Given the description of an element on the screen output the (x, y) to click on. 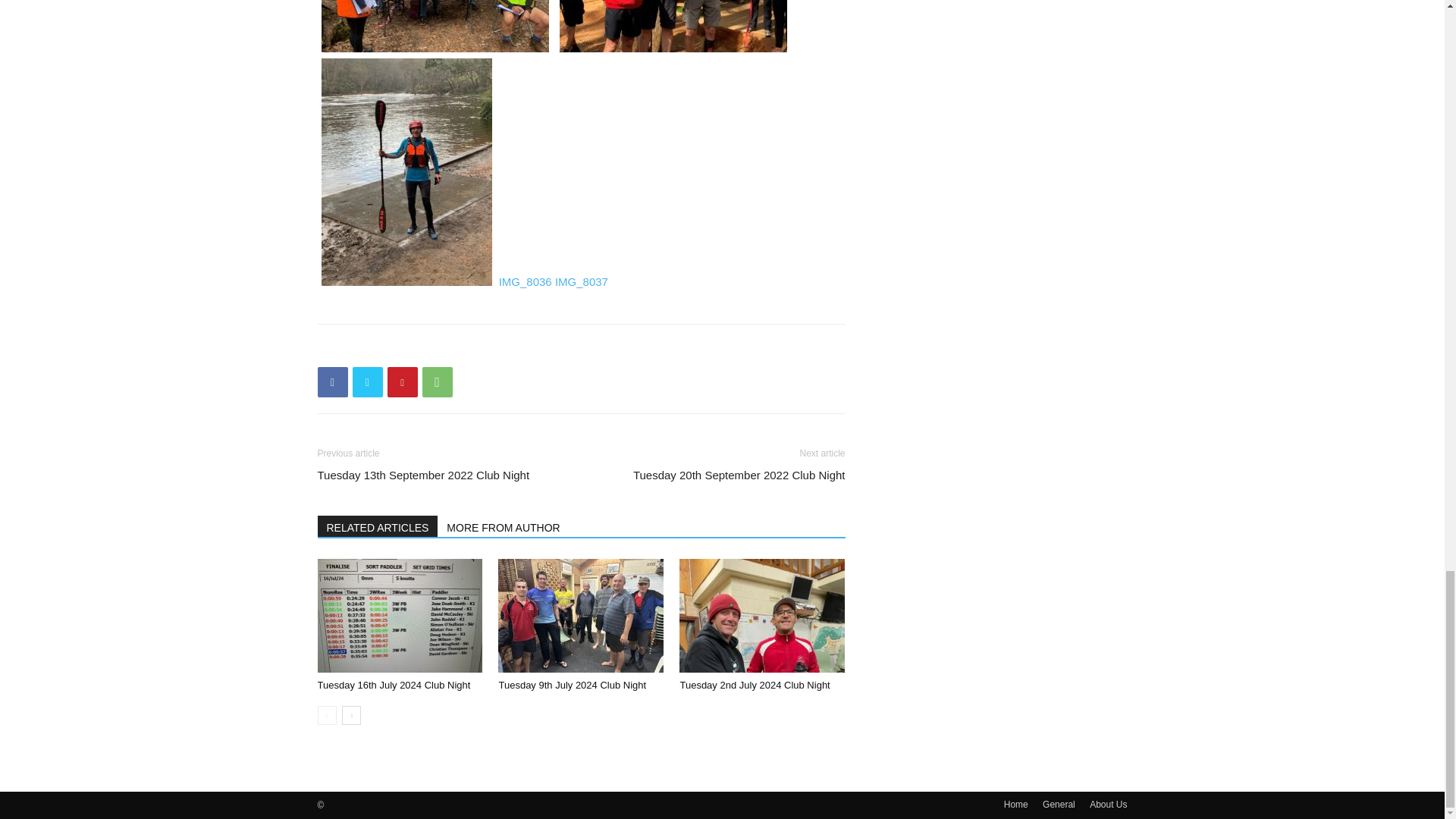
Facebook (332, 381)
bottomFacebookLike (430, 348)
Twitter (366, 381)
Pinterest (401, 381)
WhatsApp (436, 381)
